Given the description of an element on the screen output the (x, y) to click on. 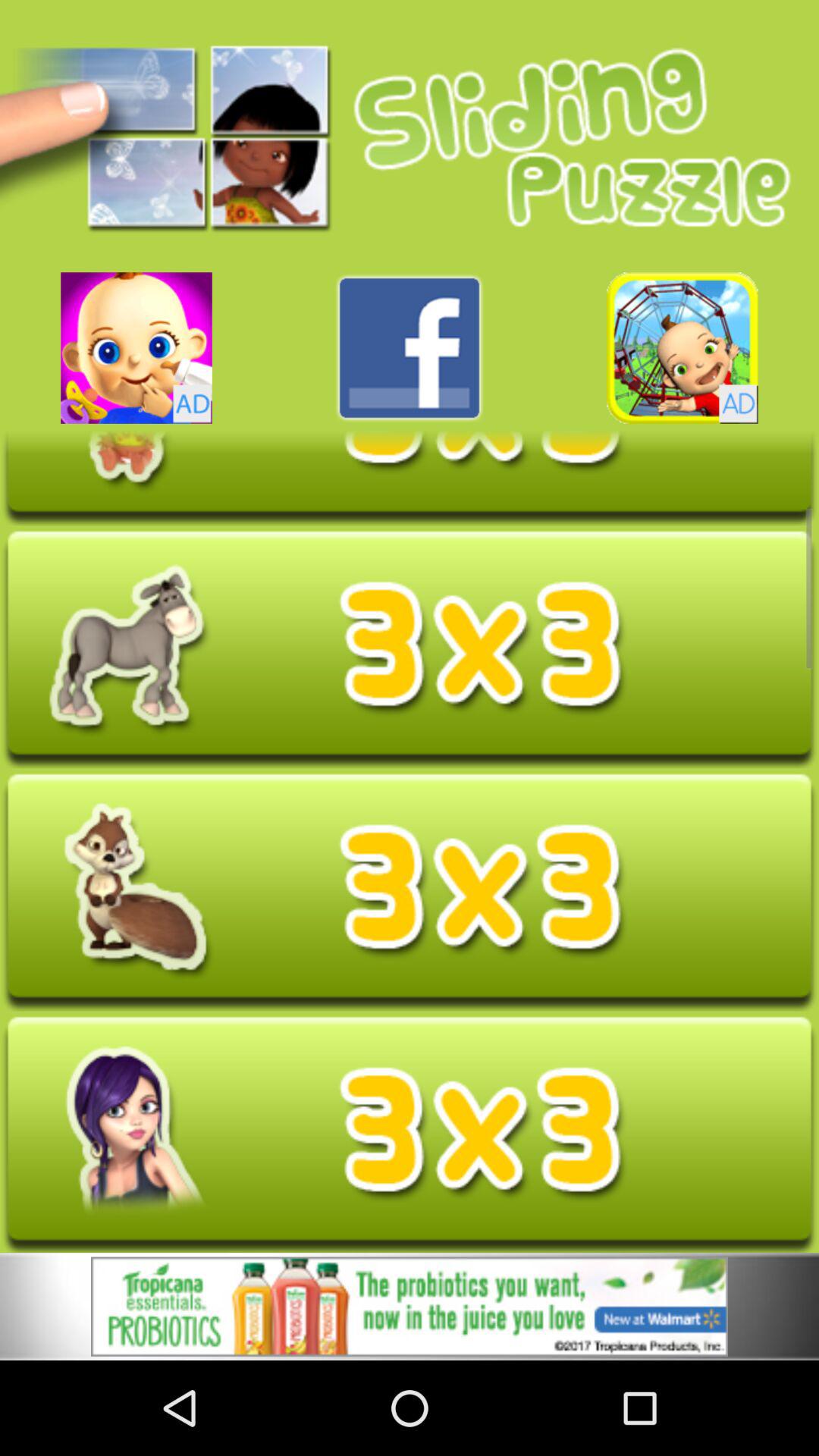
games page (136, 347)
